Given the description of an element on the screen output the (x, y) to click on. 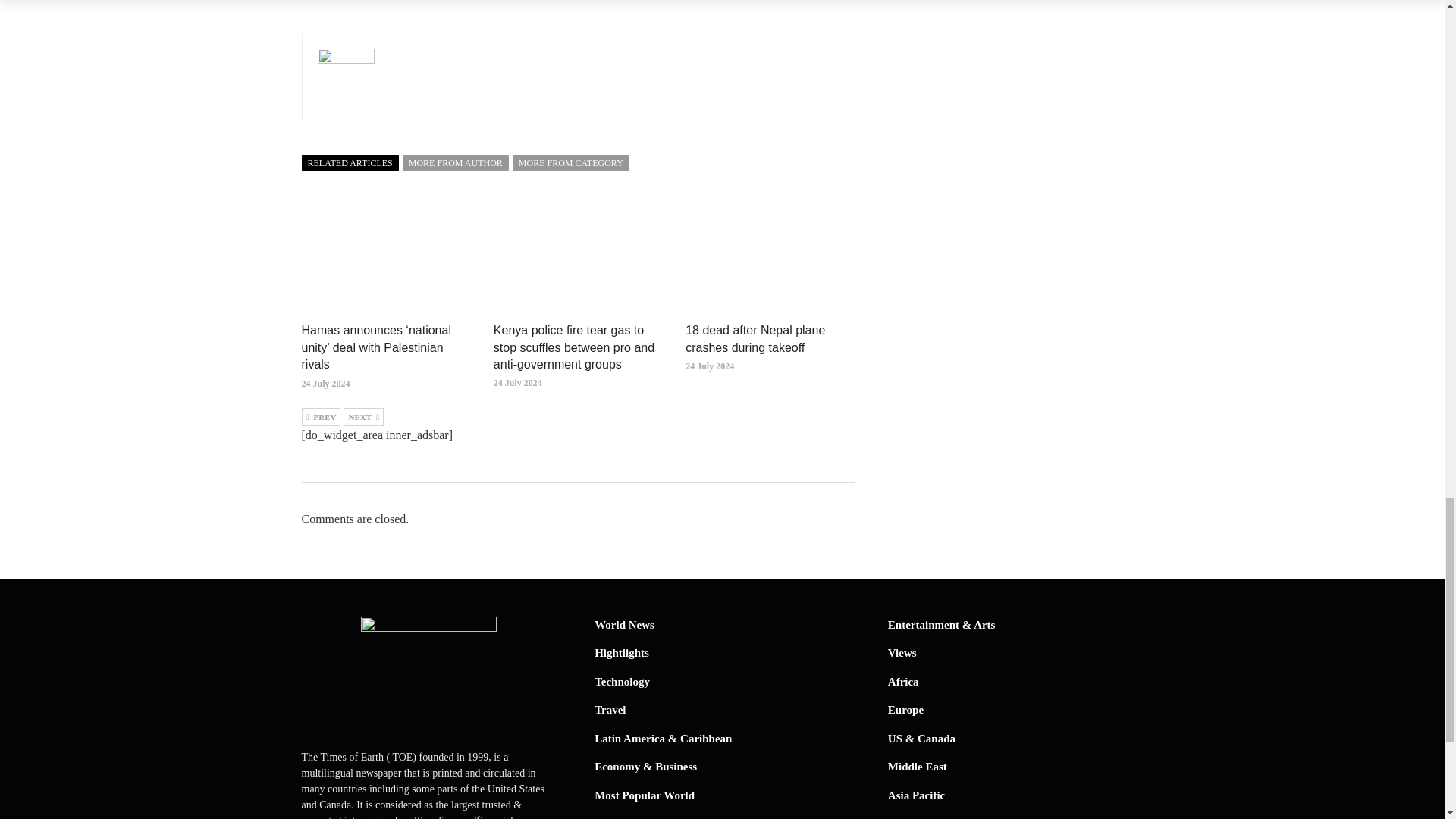
Previous (320, 416)
Next (363, 416)
